Given the description of an element on the screen output the (x, y) to click on. 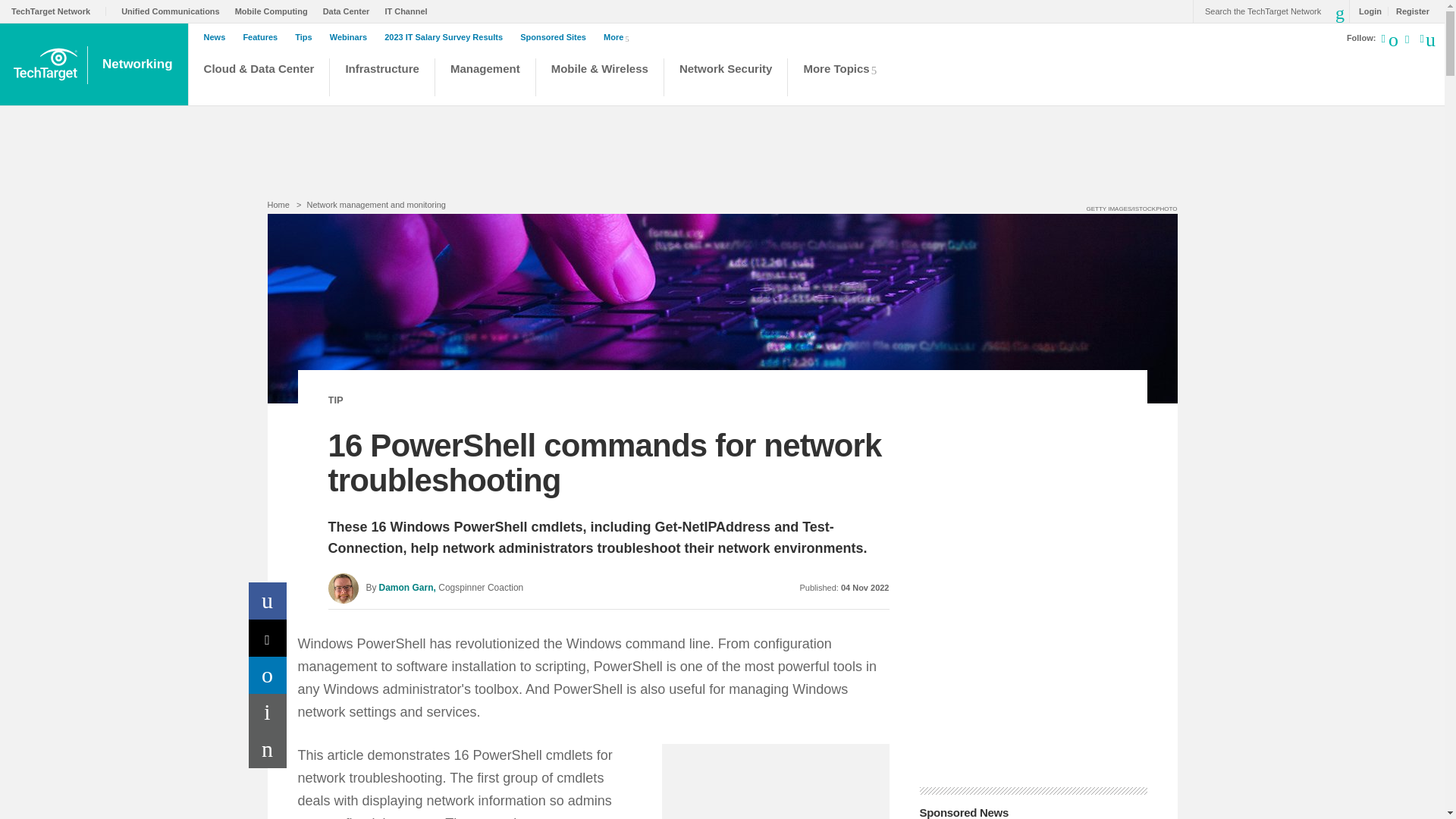
More Topics (844, 79)
Email a Friend (267, 749)
Share on Facebook (267, 600)
Register (1408, 10)
Infrastructure (382, 79)
Networking (138, 64)
Share on X (267, 637)
2023 IT Salary Survey Results (447, 36)
Features (264, 36)
Network Security (726, 79)
TechTarget Network (58, 10)
Mobile Computing (274, 10)
Management (484, 79)
Data Center (350, 10)
Login (1366, 10)
